Given the description of an element on the screen output the (x, y) to click on. 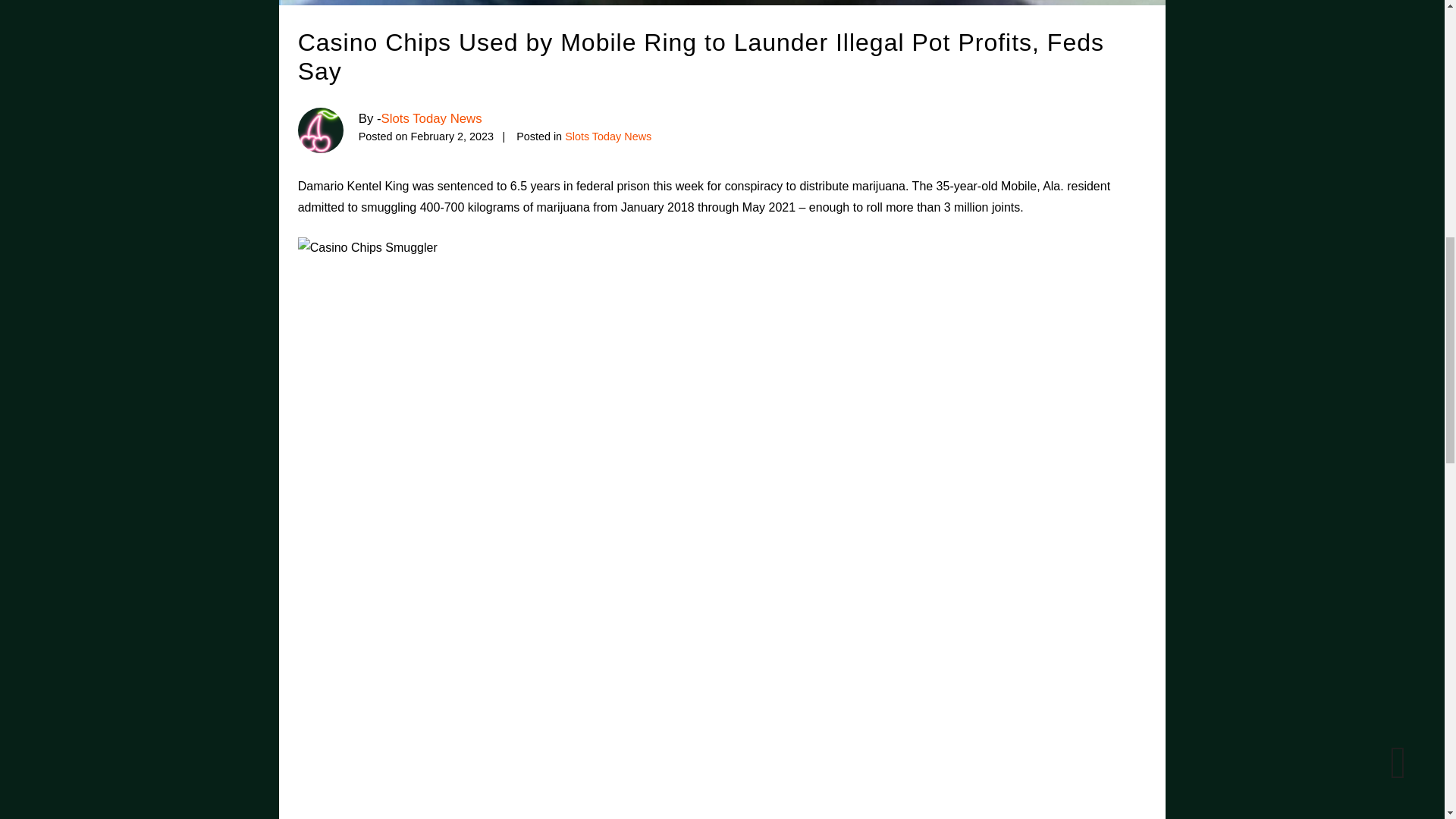
Slots Today News (431, 118)
Slots Today News (607, 136)
